Given the description of an element on the screen output the (x, y) to click on. 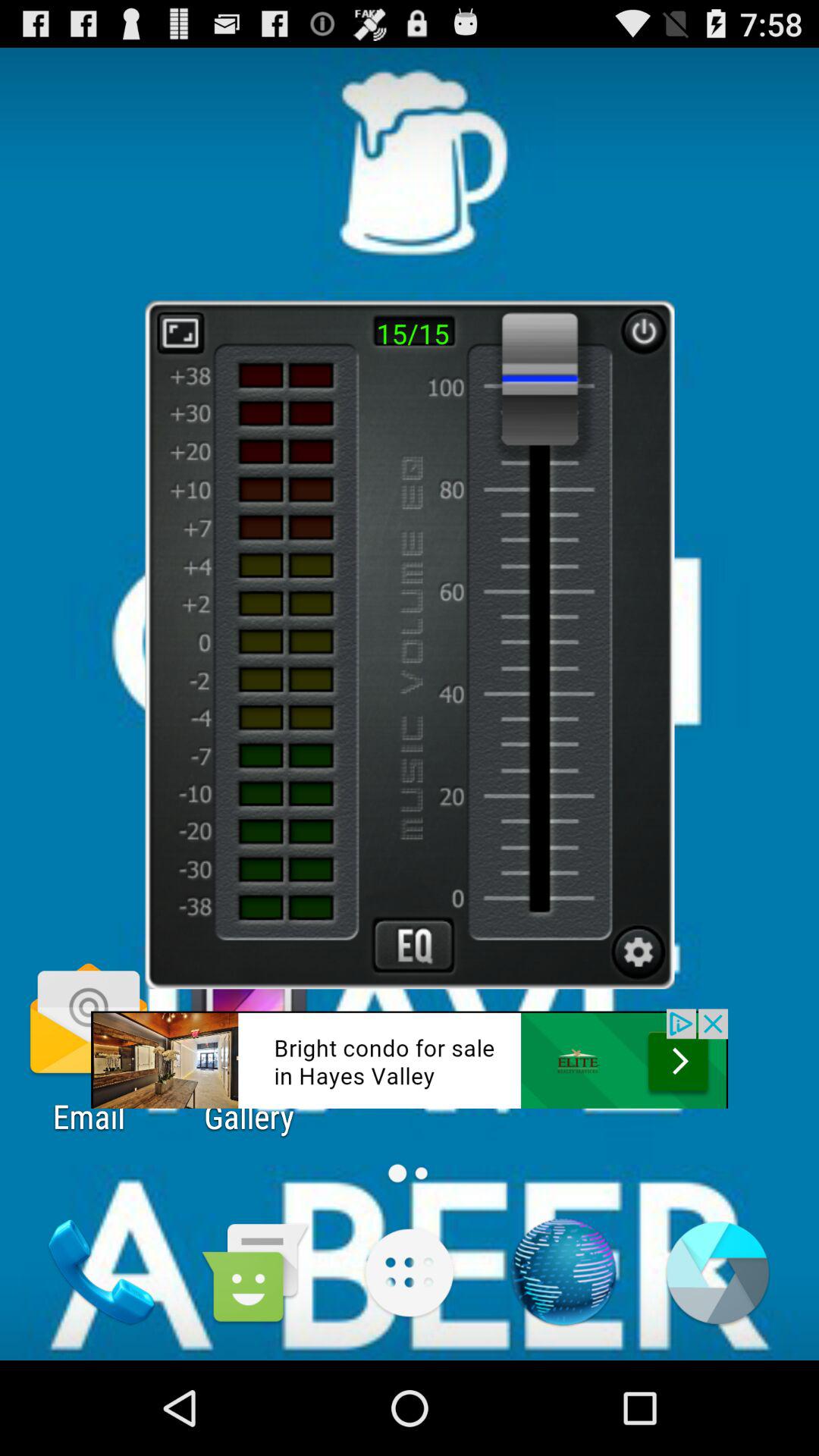
expand button (179, 332)
